Given the description of an element on the screen output the (x, y) to click on. 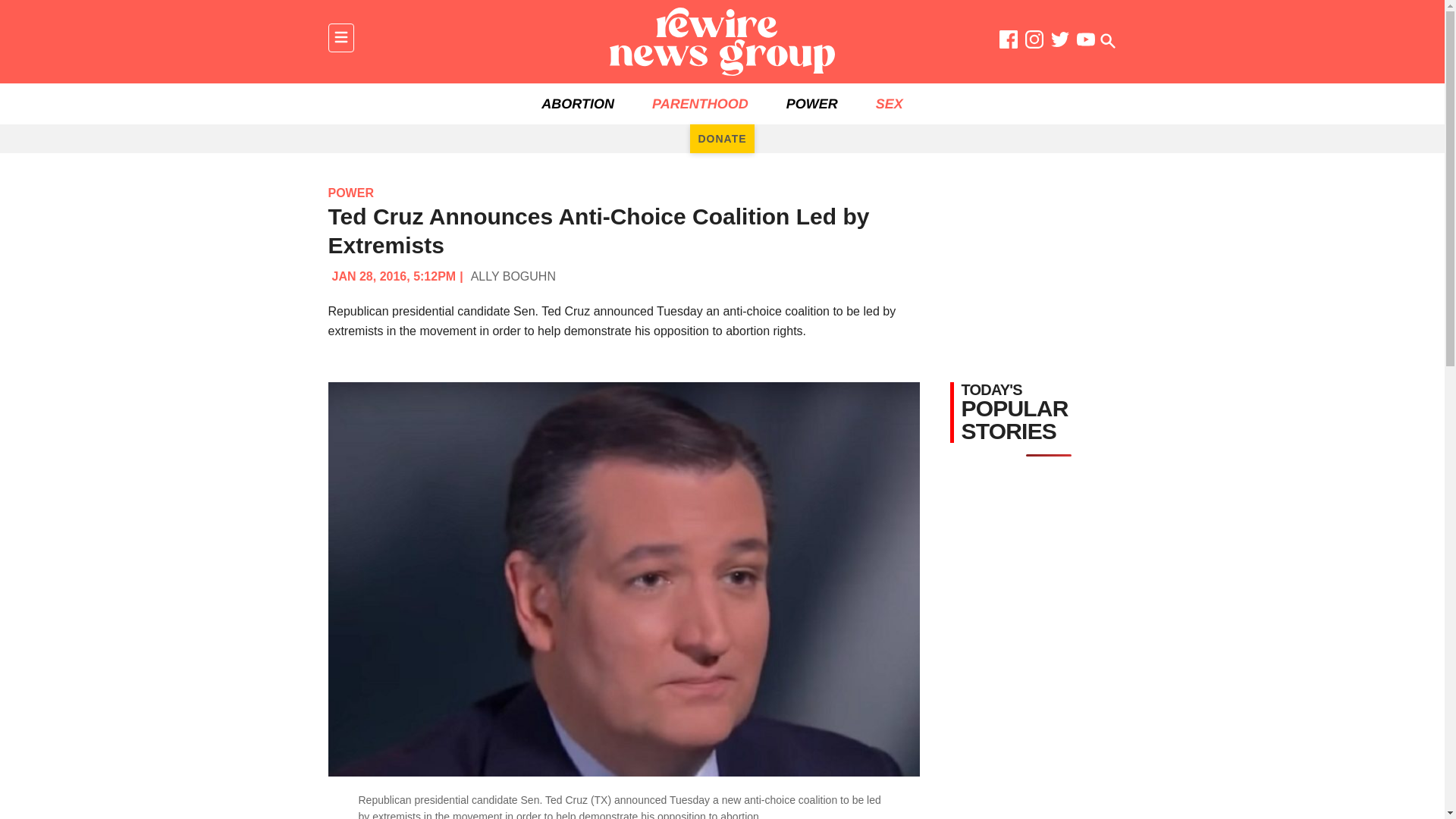
INSTAGRAM (1034, 41)
SEX (889, 103)
POWER (349, 192)
DONATE (722, 138)
TWITTER (1059, 41)
ABORTION (577, 103)
FACEBOOK (1007, 41)
PARENTHOOD (700, 103)
POWER (812, 103)
MENU (340, 37)
